Given the description of an element on the screen output the (x, y) to click on. 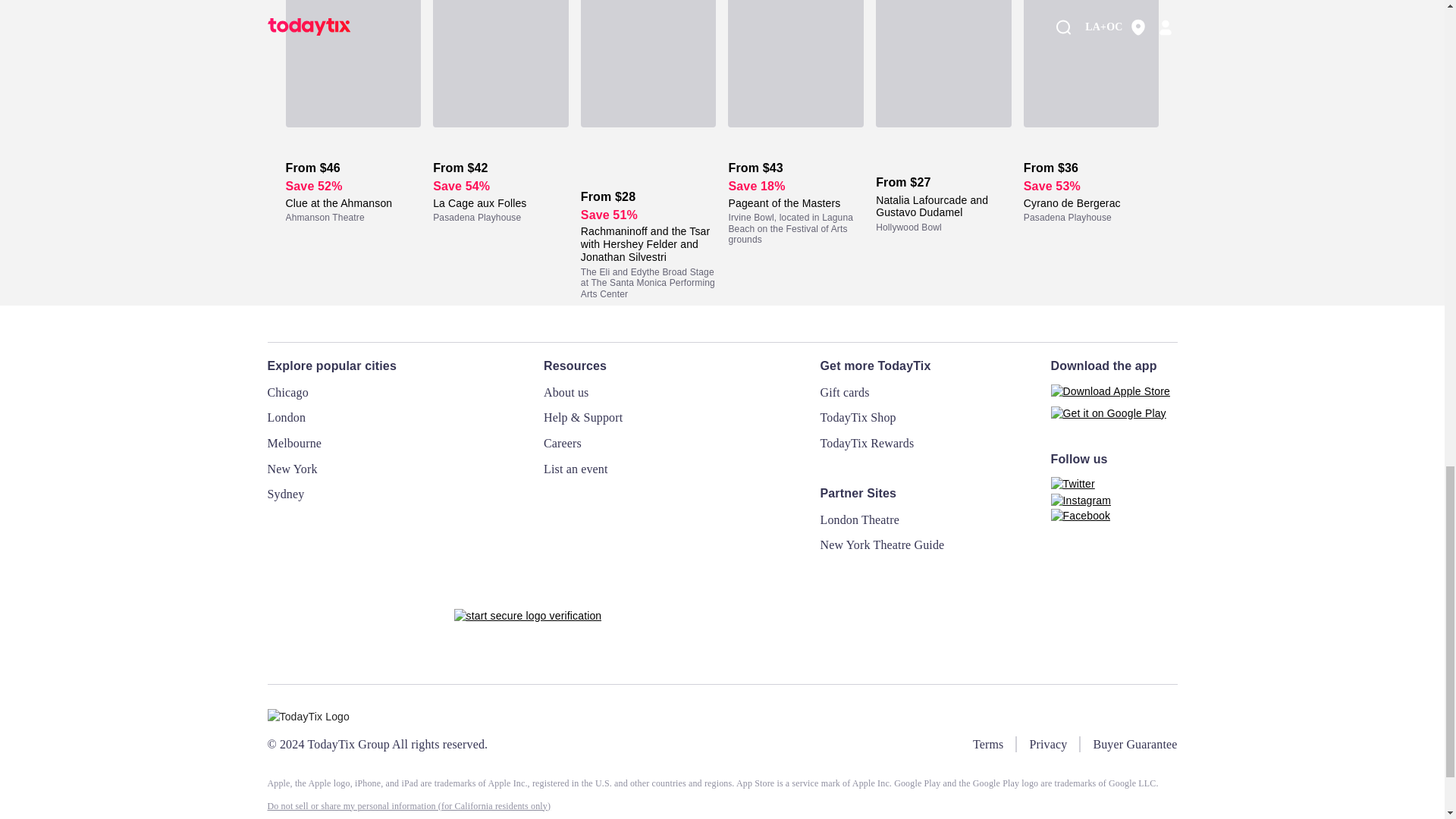
London Theatre (860, 518)
Gift cards (845, 391)
Melbourne (293, 442)
Chicago (286, 391)
Sydney (285, 493)
Careers (561, 442)
List an event (575, 468)
TodayTix Rewards (867, 442)
London (285, 417)
New York Theatre Guide (882, 544)
